Given the description of an element on the screen output the (x, y) to click on. 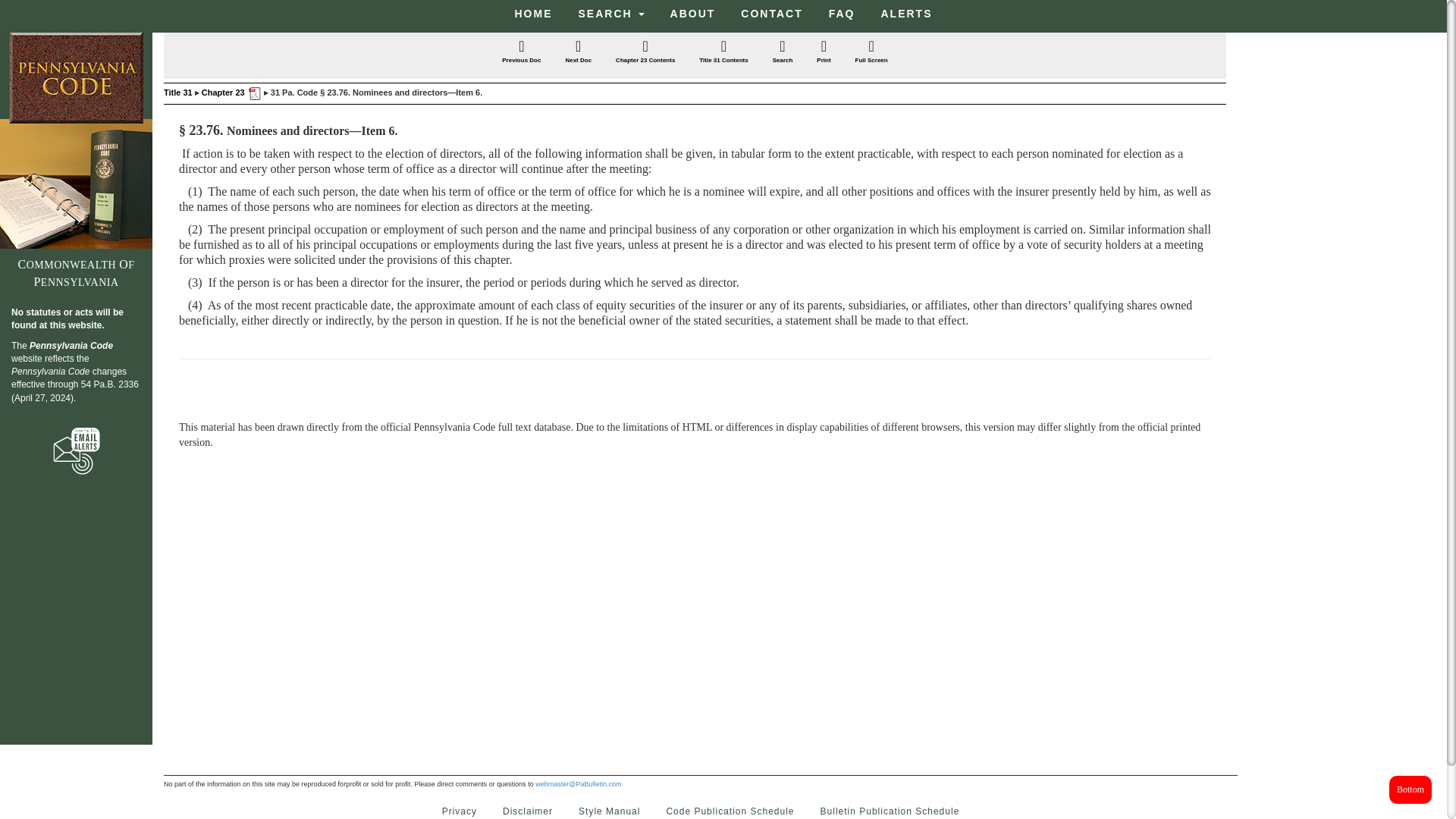
Chapter 23 (223, 92)
Email Alerts (76, 451)
ALERTS (906, 13)
Title 31 Contents (722, 52)
Bulletin Publication Schedule (890, 808)
Title Table of Contents (722, 52)
Disclaimer (528, 808)
Previous Doc (520, 52)
Title 31 (177, 92)
SEARCH (611, 13)
Privacy (458, 808)
Search (783, 52)
CONTACT (771, 13)
Chapter 23 Contents (644, 52)
ABOUT (692, 13)
